Given the description of an element on the screen output the (x, y) to click on. 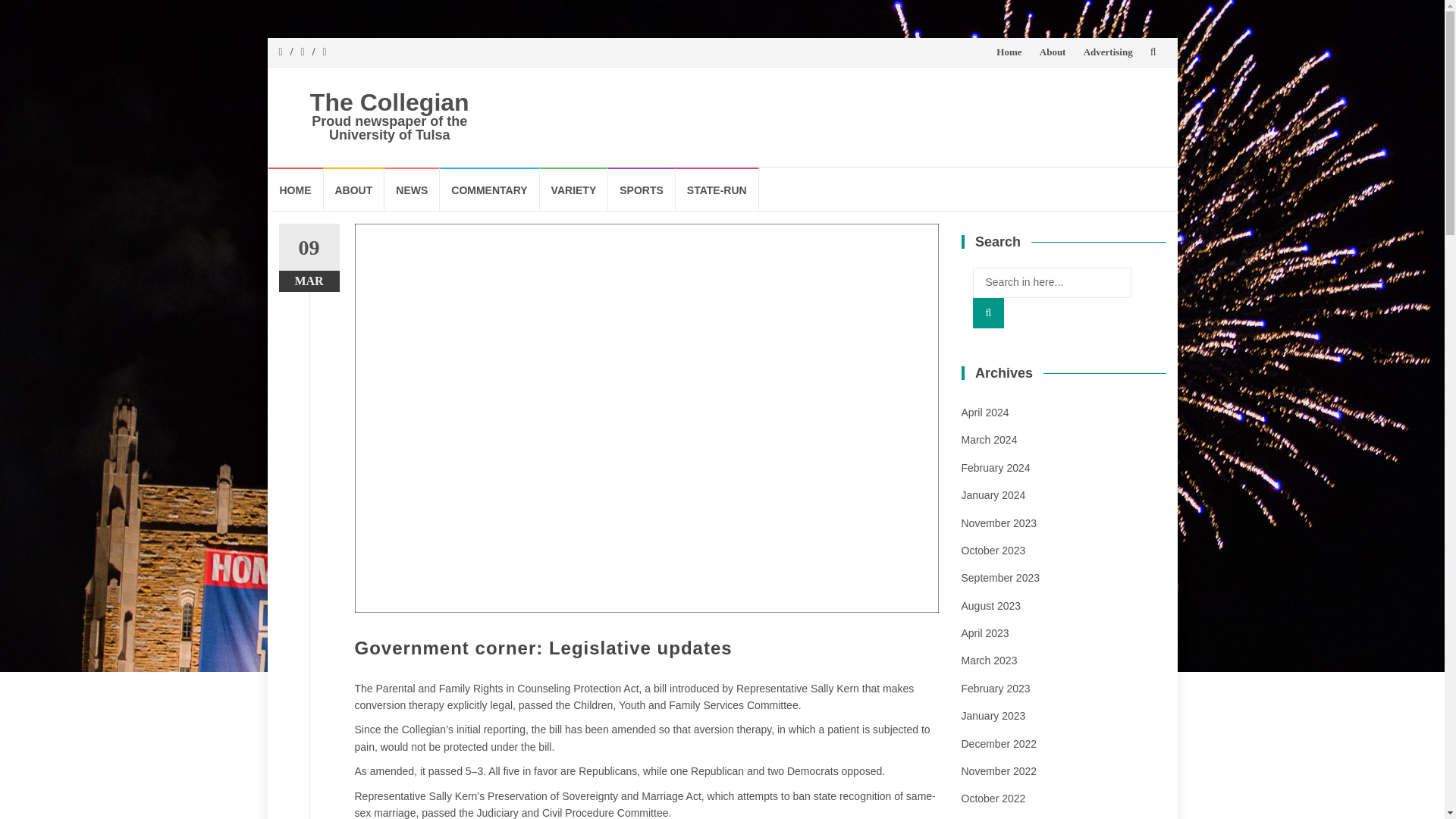
Home (1008, 51)
COMMENTARY (488, 188)
Search for: (1051, 282)
The Collegian (389, 102)
Search (988, 313)
VARIETY (574, 188)
Advertising (1107, 51)
SPORTS (641, 188)
